Given the description of an element on the screen output the (x, y) to click on. 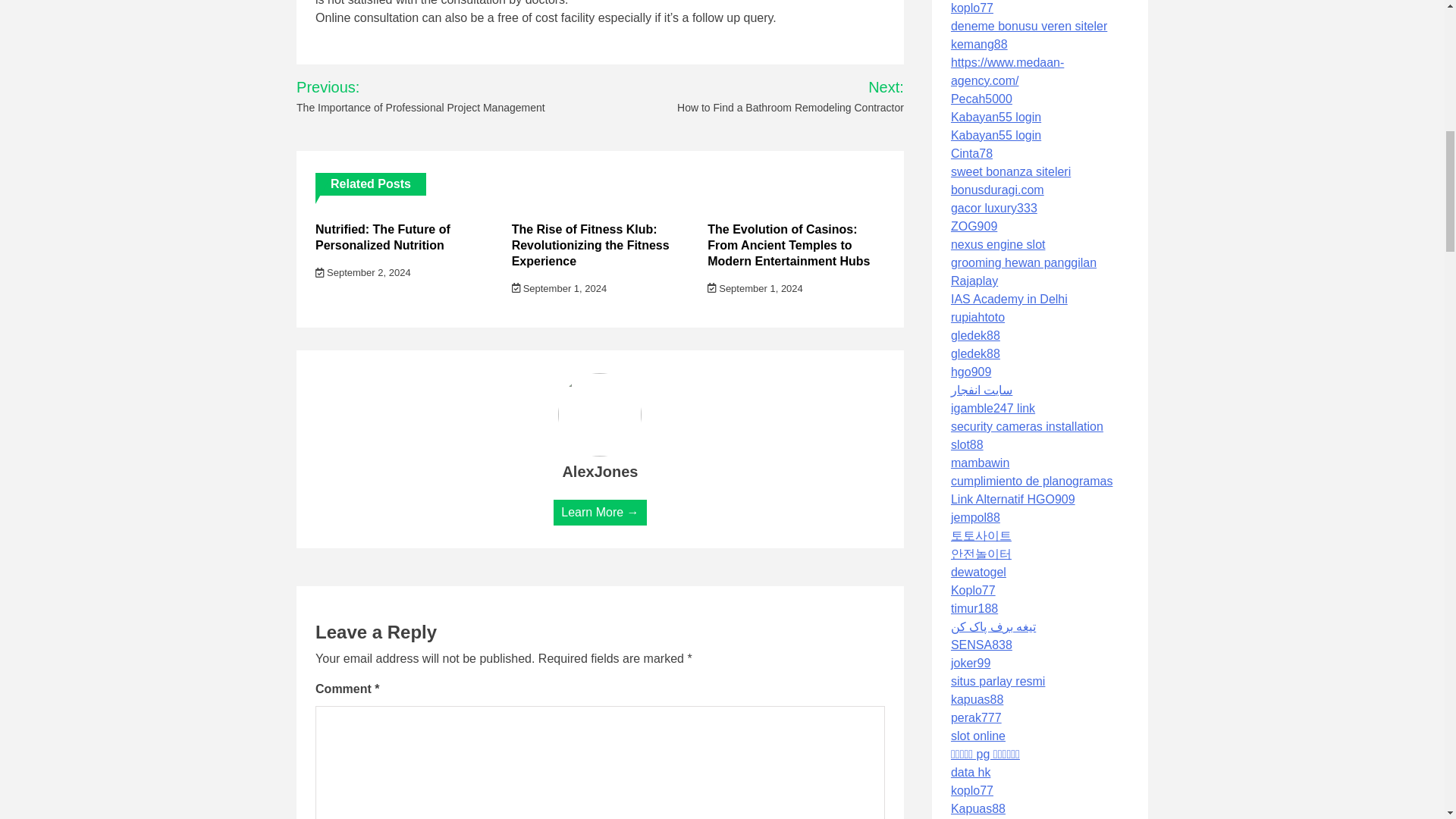
September 2, 2024 (362, 272)
Nutrified: The Future of Personalized Nutrition (382, 236)
Next: How to Find a Bathroom Remodeling Contractor (771, 96)
September 1, 2024 (559, 288)
September 1, 2024 (755, 288)
Previous: The Importance of Professional Project Management (441, 96)
